Given the description of an element on the screen output the (x, y) to click on. 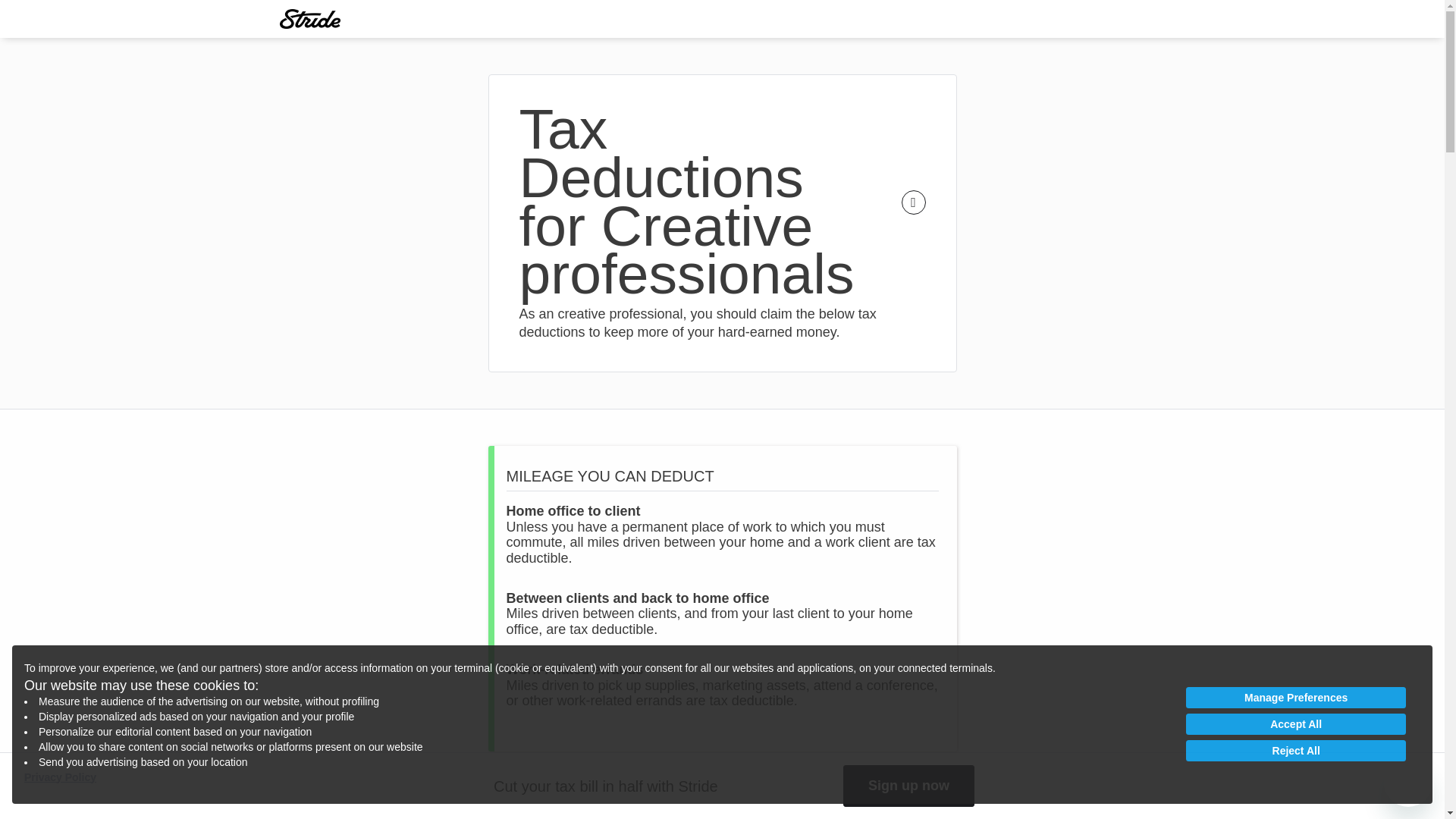
Sign up now (908, 785)
Accept All (1296, 723)
Reject All (1296, 750)
Manage Preferences (1296, 697)
Privacy Policy (60, 777)
Button to launch messaging window (1408, 782)
